Given the description of an element on the screen output the (x, y) to click on. 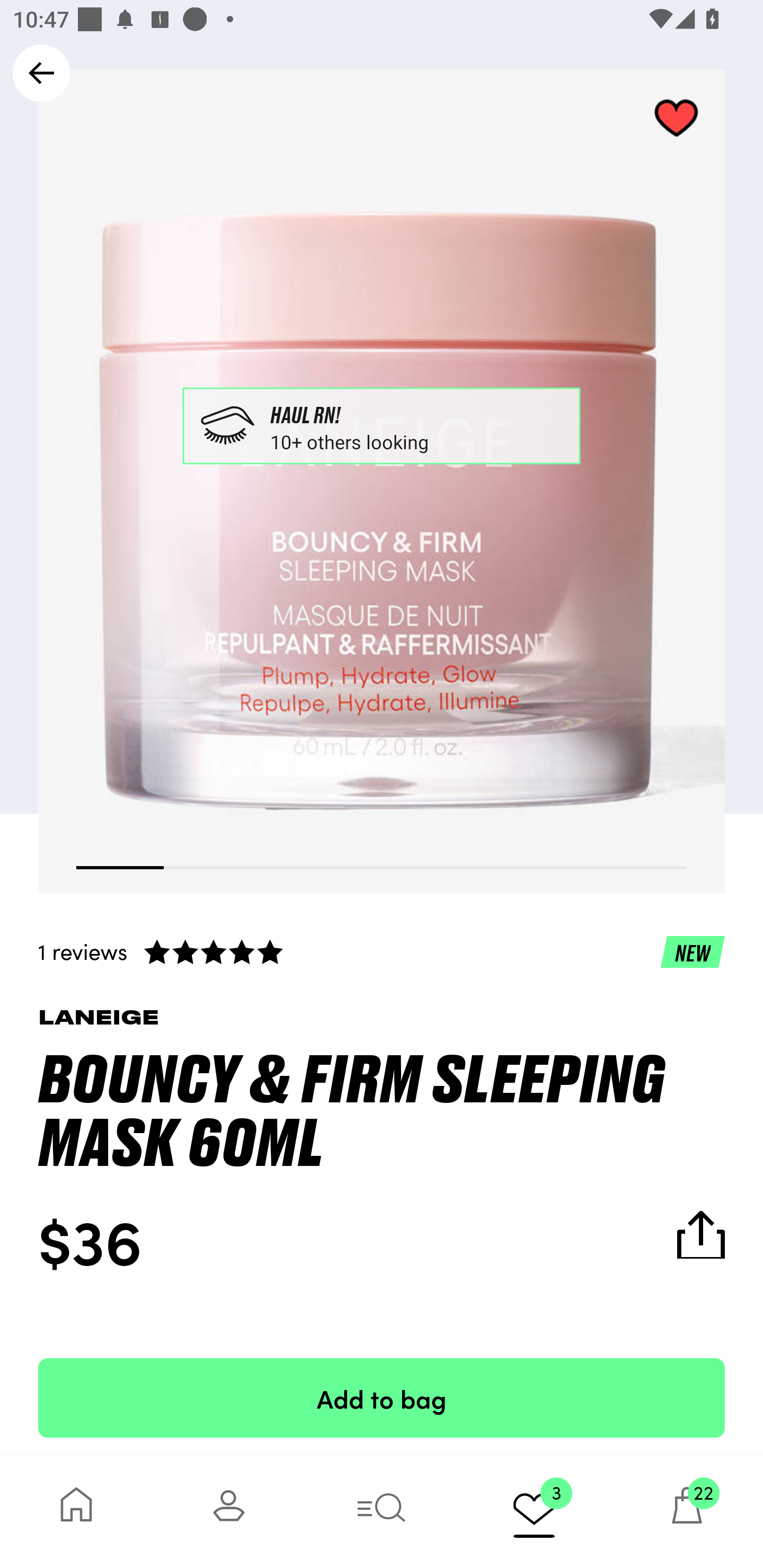
1 reviews (381, 950)
Add to bag (381, 1397)
3 (533, 1512)
22 (686, 1512)
